Given the description of an element on the screen output the (x, y) to click on. 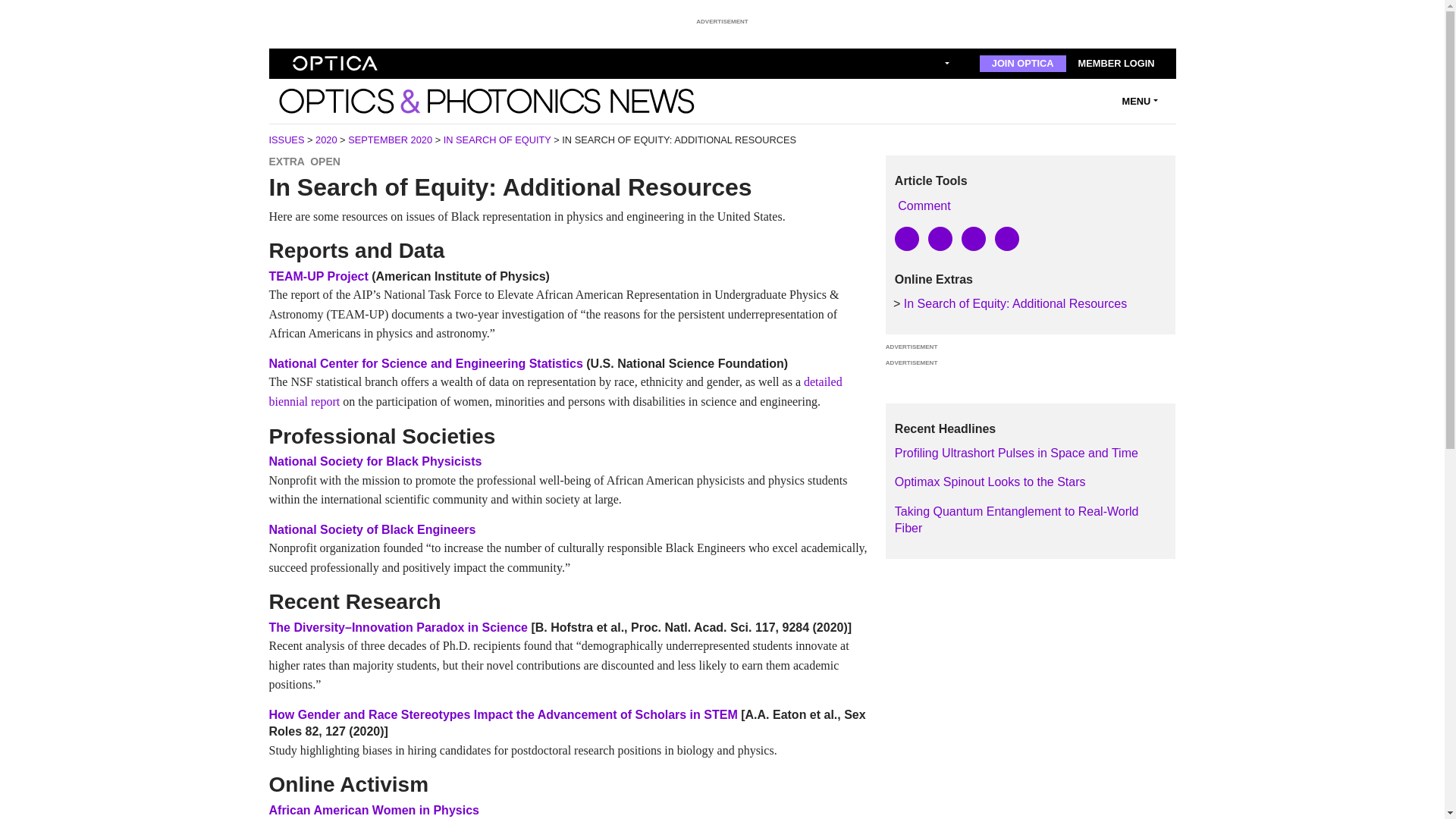
Share on Facebook (940, 238)
MENU (1139, 100)
Share on Twitter (906, 238)
JOIN OPTICA (1022, 63)
SHOW SEARCH DIALOG (945, 63)
MEMBER LOGIN (1116, 63)
Share on LinkedIn (972, 238)
